Given the description of an element on the screen output the (x, y) to click on. 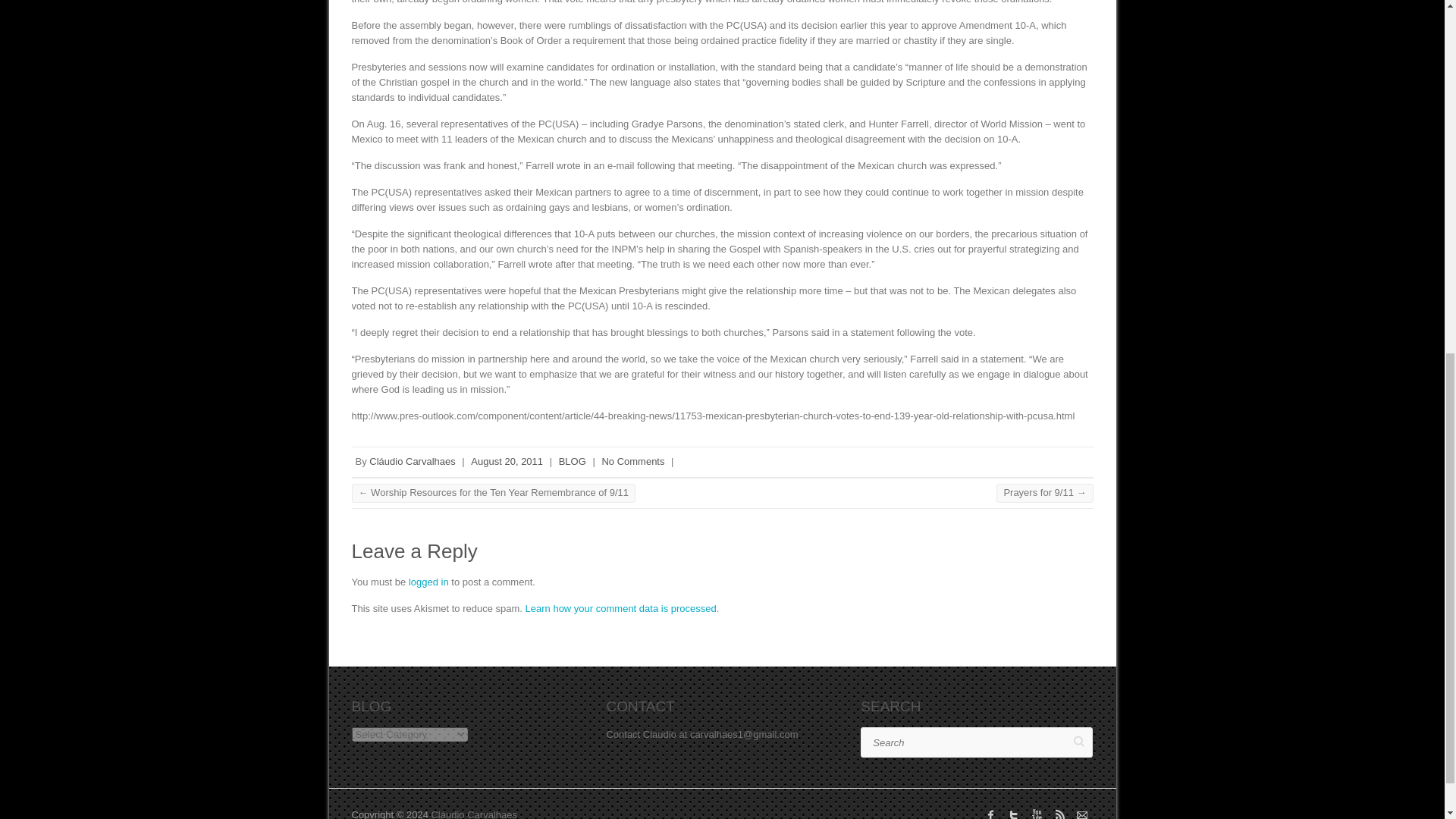
Learn how your comment data is processed (620, 608)
5:39 am (506, 460)
No Comments (632, 460)
BLOG (572, 460)
logged in (428, 582)
August 20, 2011 (506, 460)
